Given the description of an element on the screen output the (x, y) to click on. 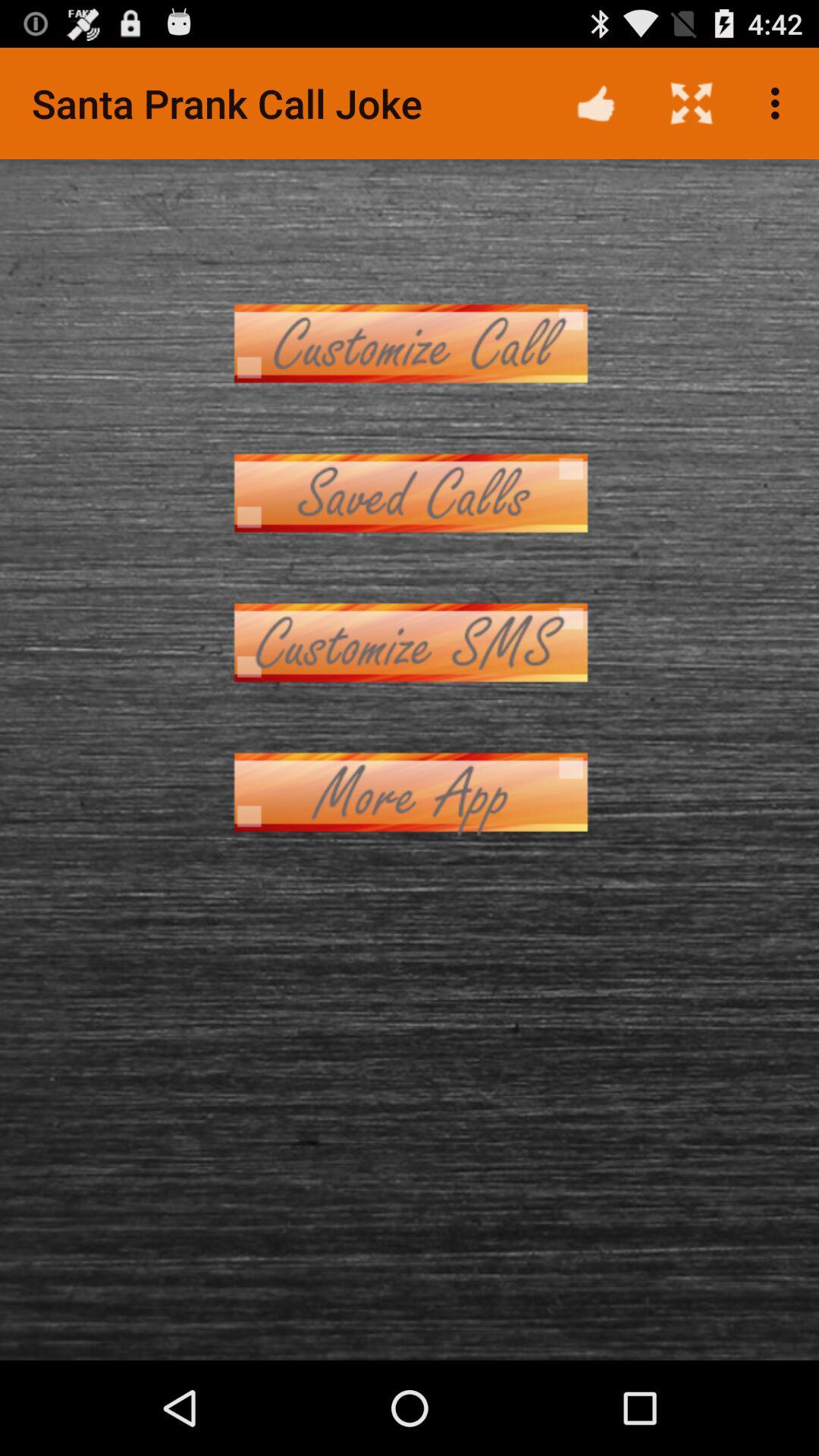
go to saved calls (409, 492)
